Given the description of an element on the screen output the (x, y) to click on. 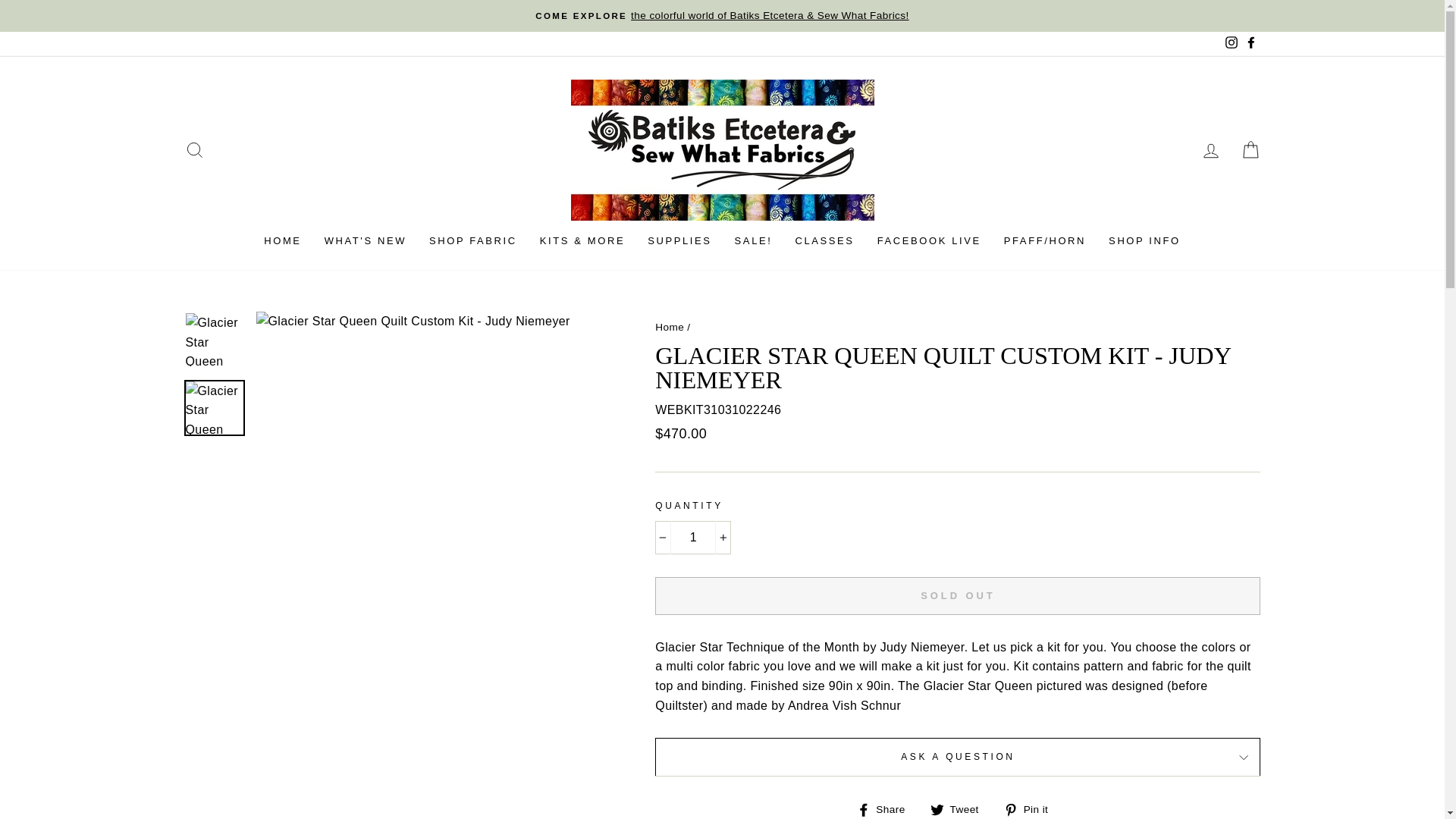
Back to the frontpage (669, 326)
1 (692, 537)
Tweet on Twitter (960, 809)
Share on Facebook (887, 809)
Pin on Pinterest (1031, 809)
